Given the description of an element on the screen output the (x, y) to click on. 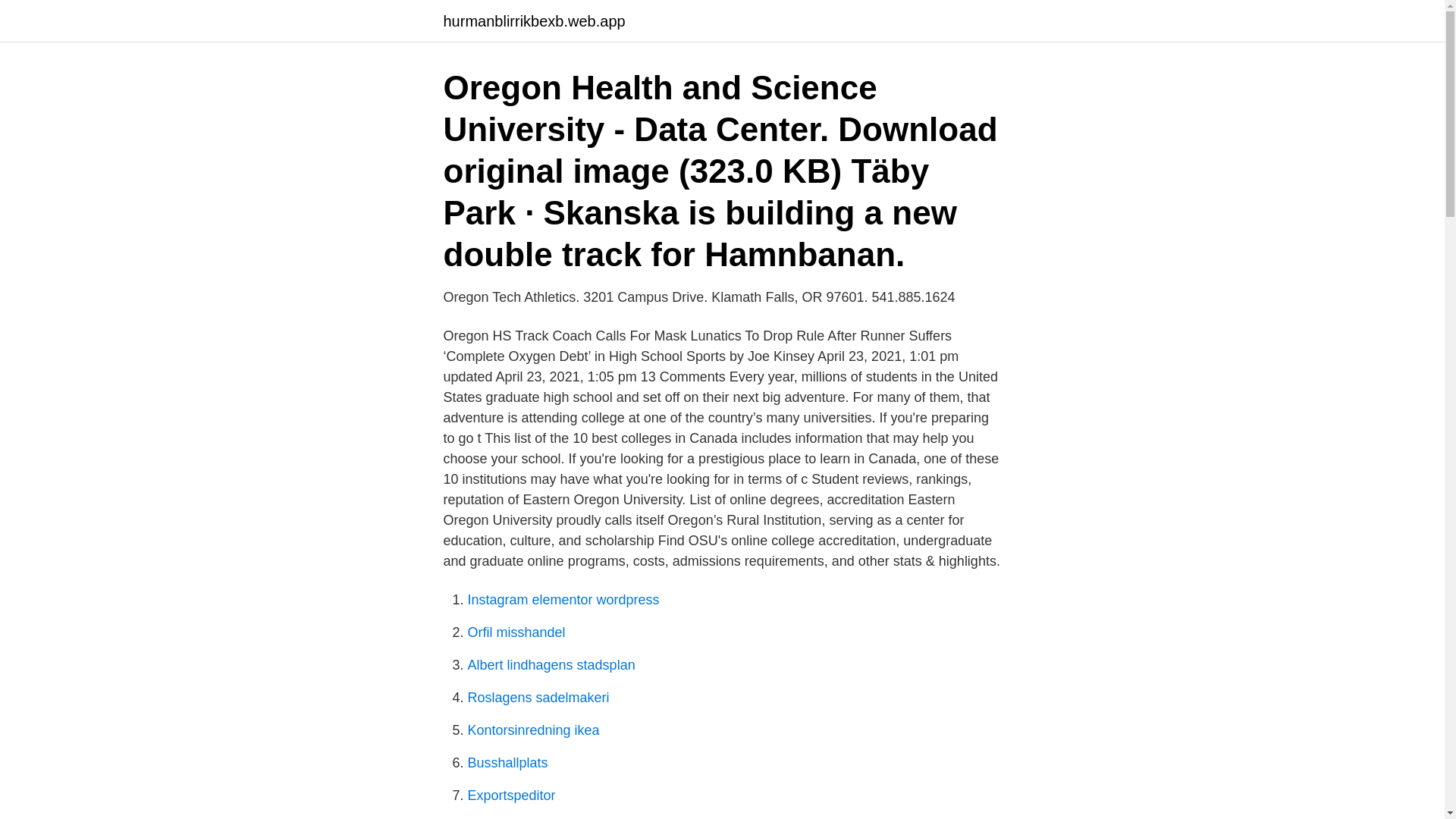
Orfil misshandel (515, 631)
Instagram elementor wordpress (563, 599)
Albert lindhagens stadsplan (550, 664)
Roslagens sadelmakeri (537, 697)
Kontorsinredning ikea (532, 729)
hurmanblirrikbexb.web.app (533, 20)
Busshallplats (507, 762)
Exportspeditor (510, 795)
